Given the description of an element on the screen output the (x, y) to click on. 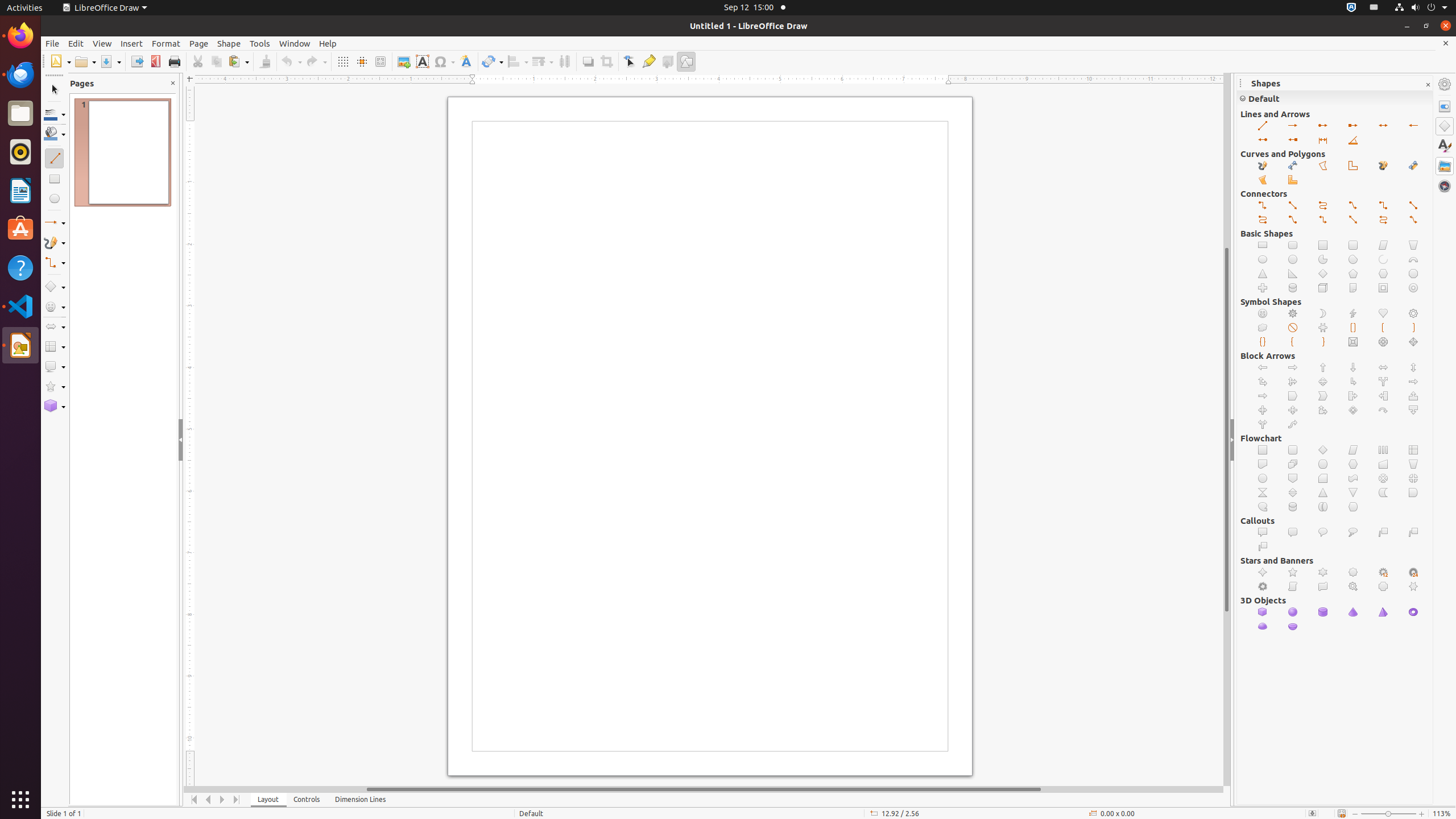
Move To End Element type: push-button (236, 799)
Toggle Extrusion Element type: push-button (667, 61)
Shape Element type: menu (228, 43)
Puzzle Element type: list-item (1323, 327)
Export Element type: push-button (136, 61)
